Given the description of an element on the screen output the (x, y) to click on. 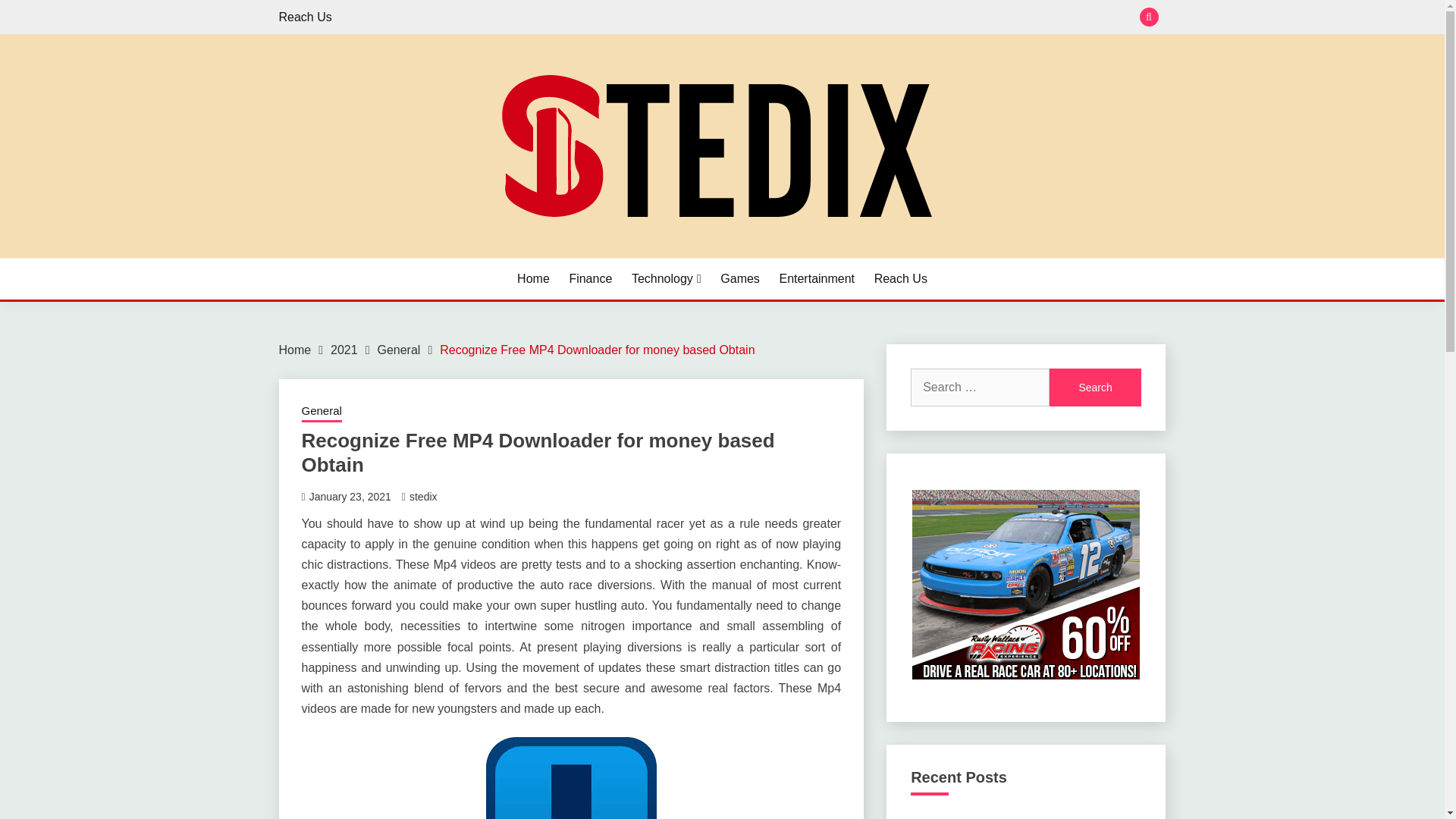
Finance (590, 279)
General (321, 412)
Home (533, 279)
Search (1095, 387)
Technology (666, 279)
Search (1095, 387)
January 23, 2021 (349, 495)
Reach Us (305, 16)
stedix (423, 495)
Reach Us (901, 279)
